Given the description of an element on the screen output the (x, y) to click on. 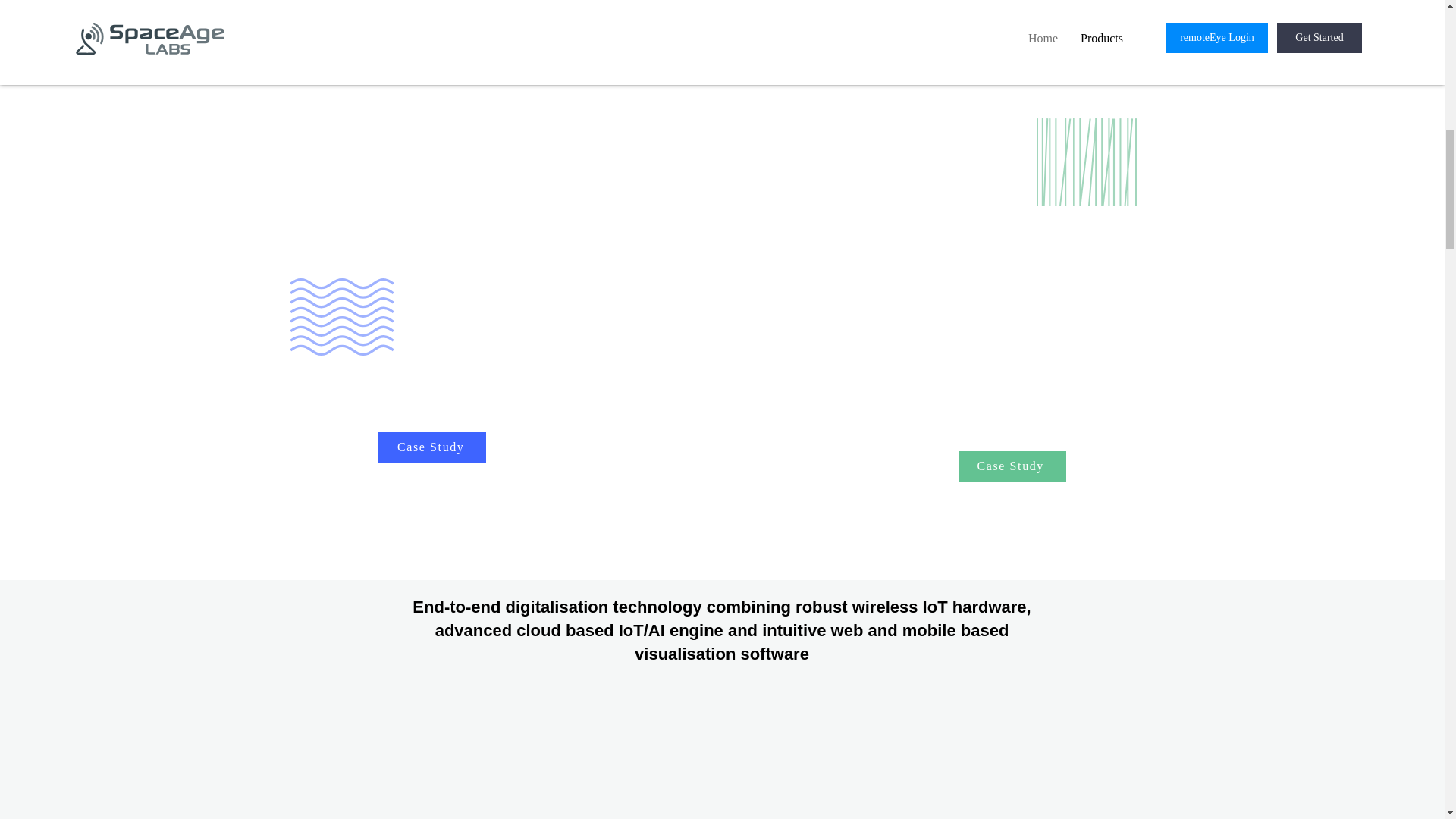
Case Study (432, 447)
Case Study (1011, 466)
